Given the description of an element on the screen output the (x, y) to click on. 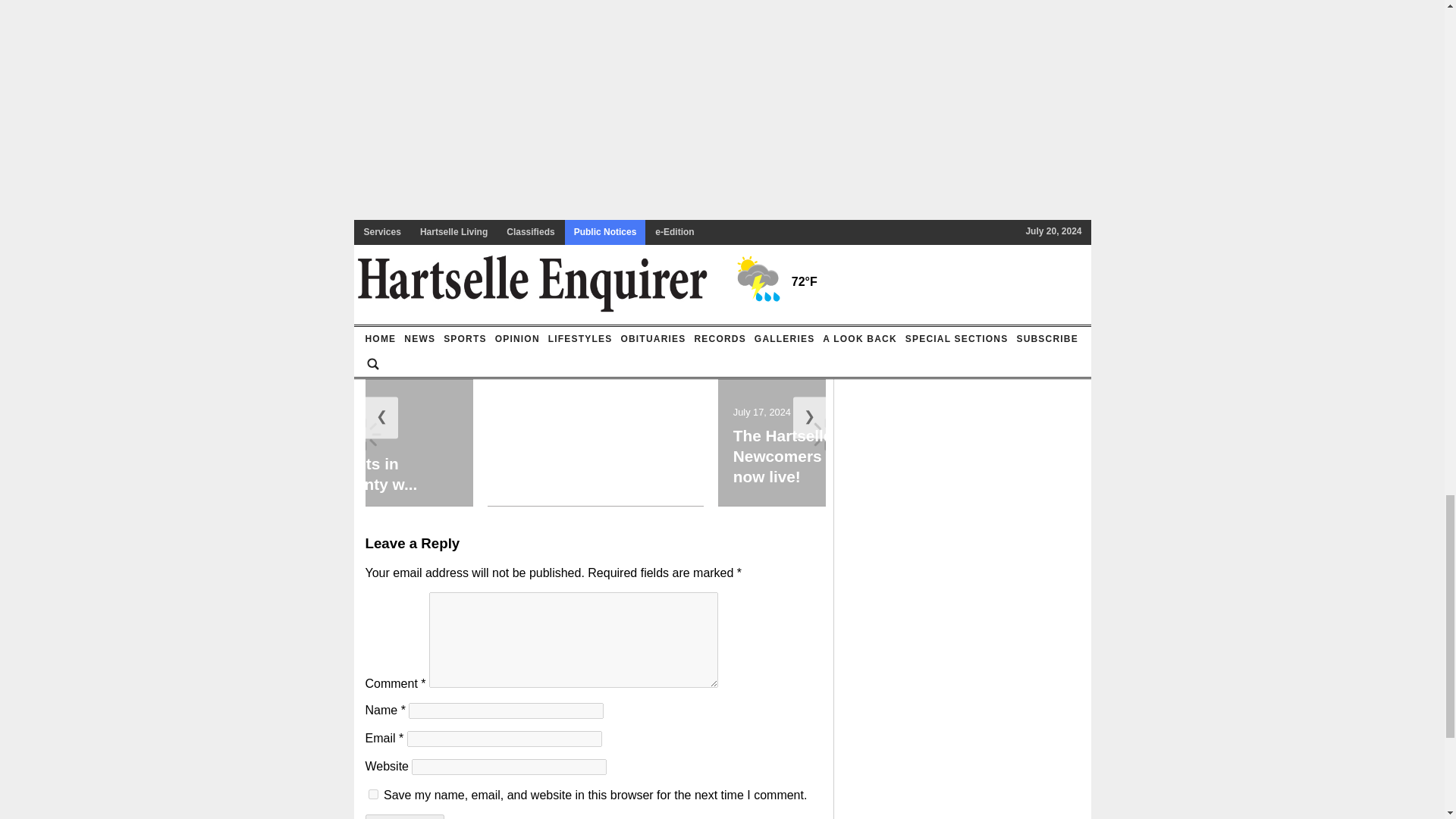
Post Comment (404, 816)
yes (373, 794)
